Given the description of an element on the screen output the (x, y) to click on. 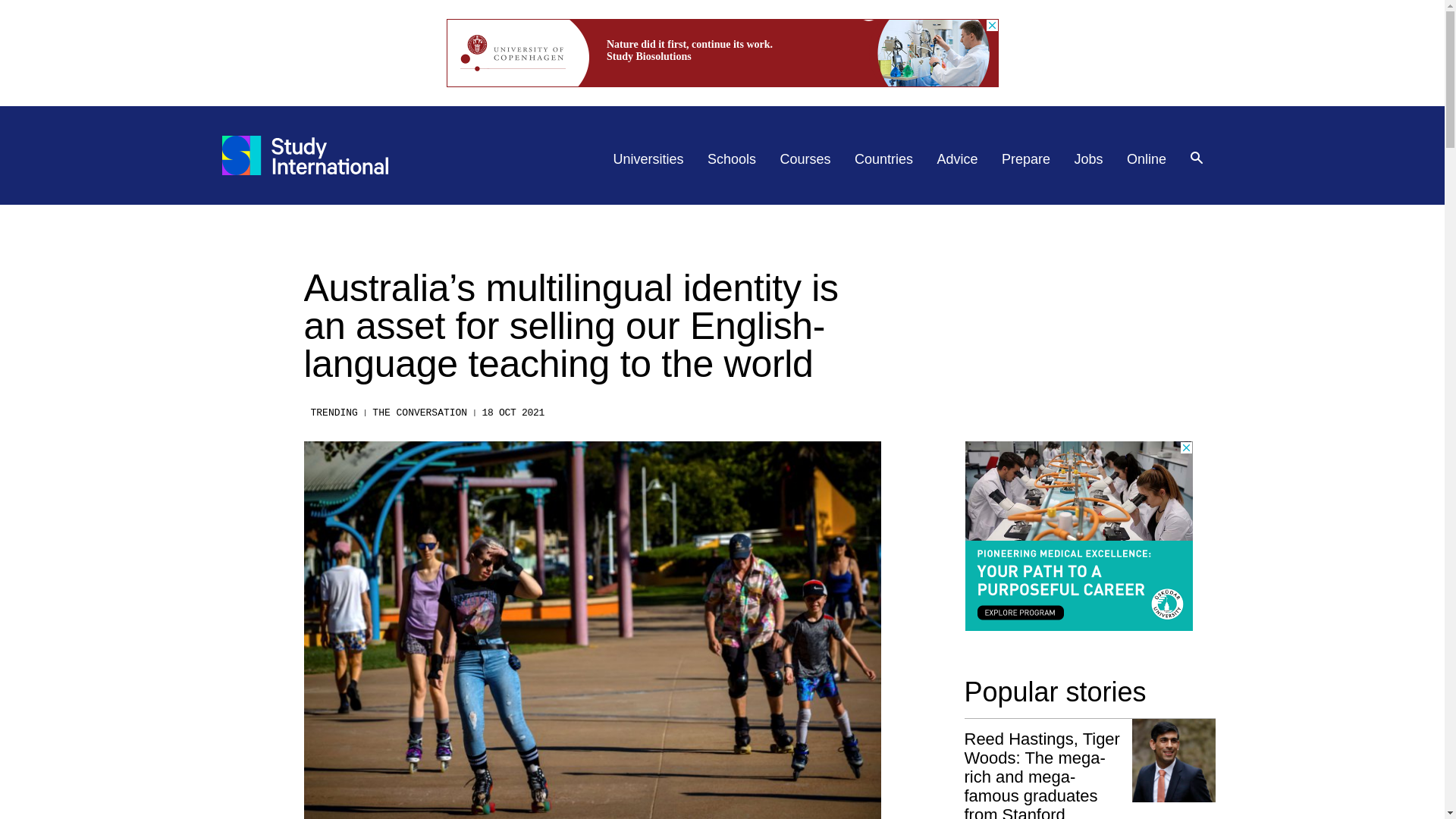
THE CONVERSATION (419, 412)
Schools (731, 159)
3rd party ad content (1078, 535)
Courses (805, 159)
3rd party ad content (721, 52)
Advice (957, 159)
Online (1146, 159)
Universities (648, 159)
Jobs (1088, 159)
Countries (883, 159)
Prepare (1025, 159)
